Given the description of an element on the screen output the (x, y) to click on. 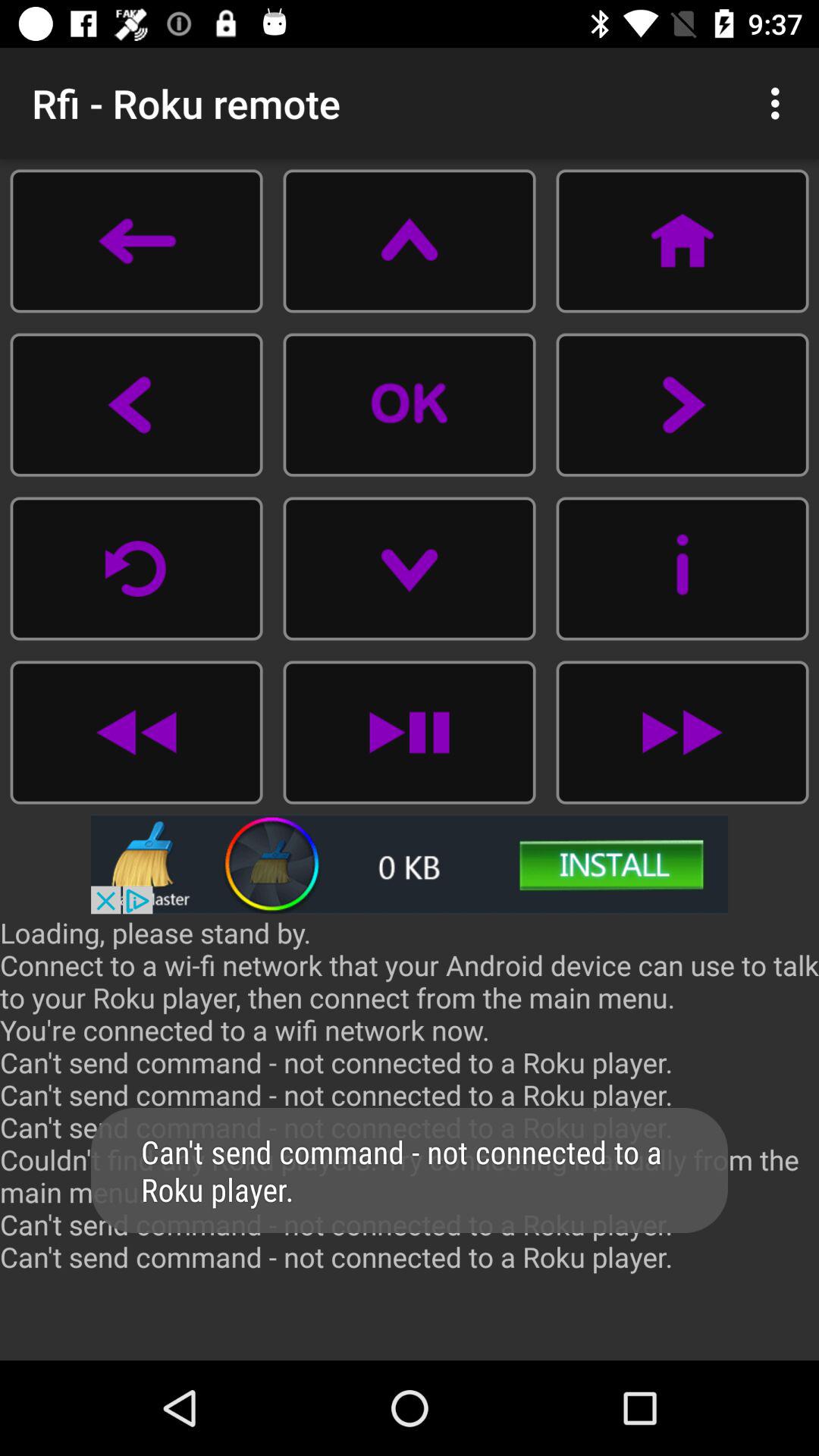
go back (136, 732)
